Given the description of an element on the screen output the (x, y) to click on. 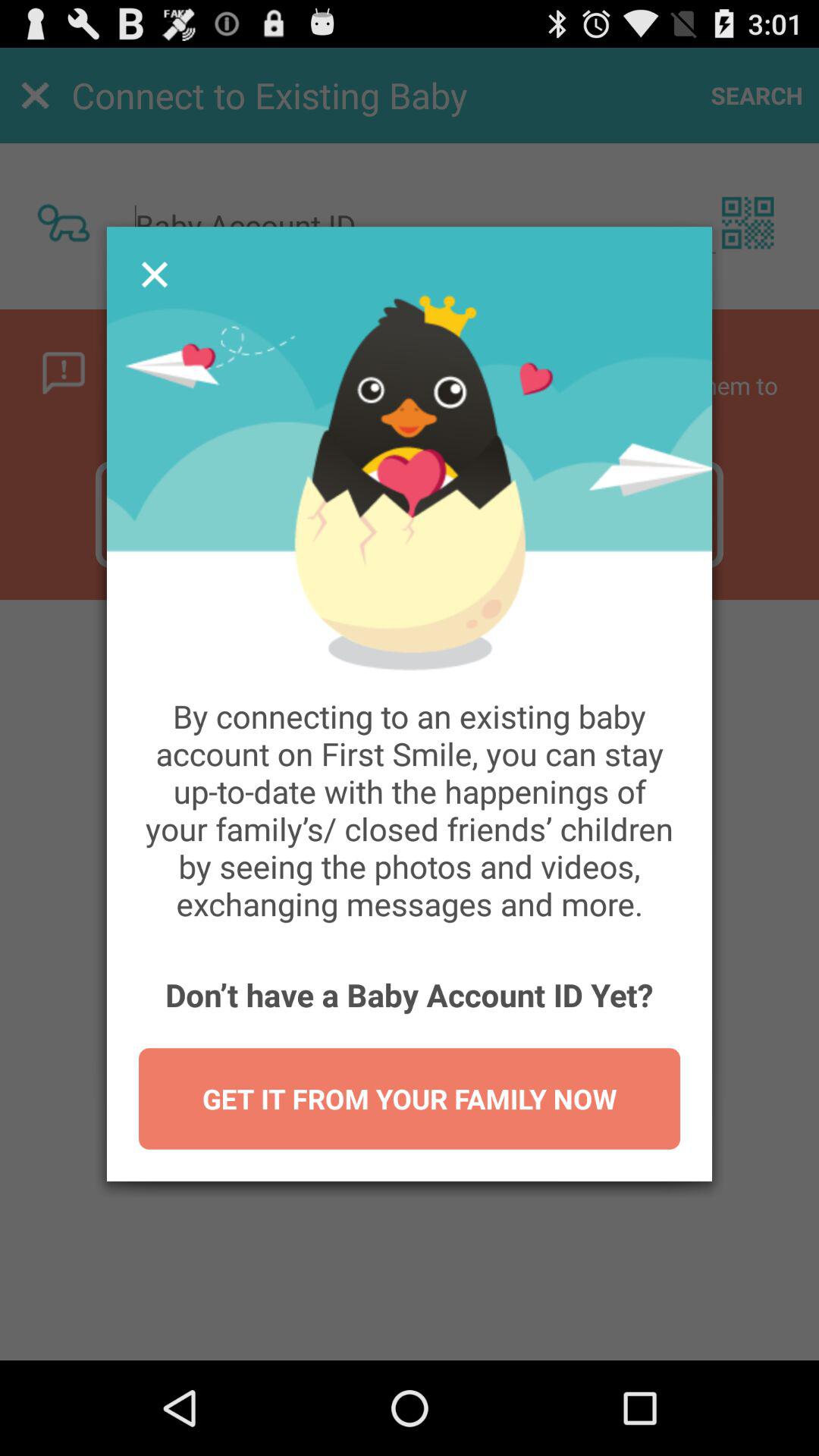
launch the get it from item (409, 1098)
